Given the description of an element on the screen output the (x, y) to click on. 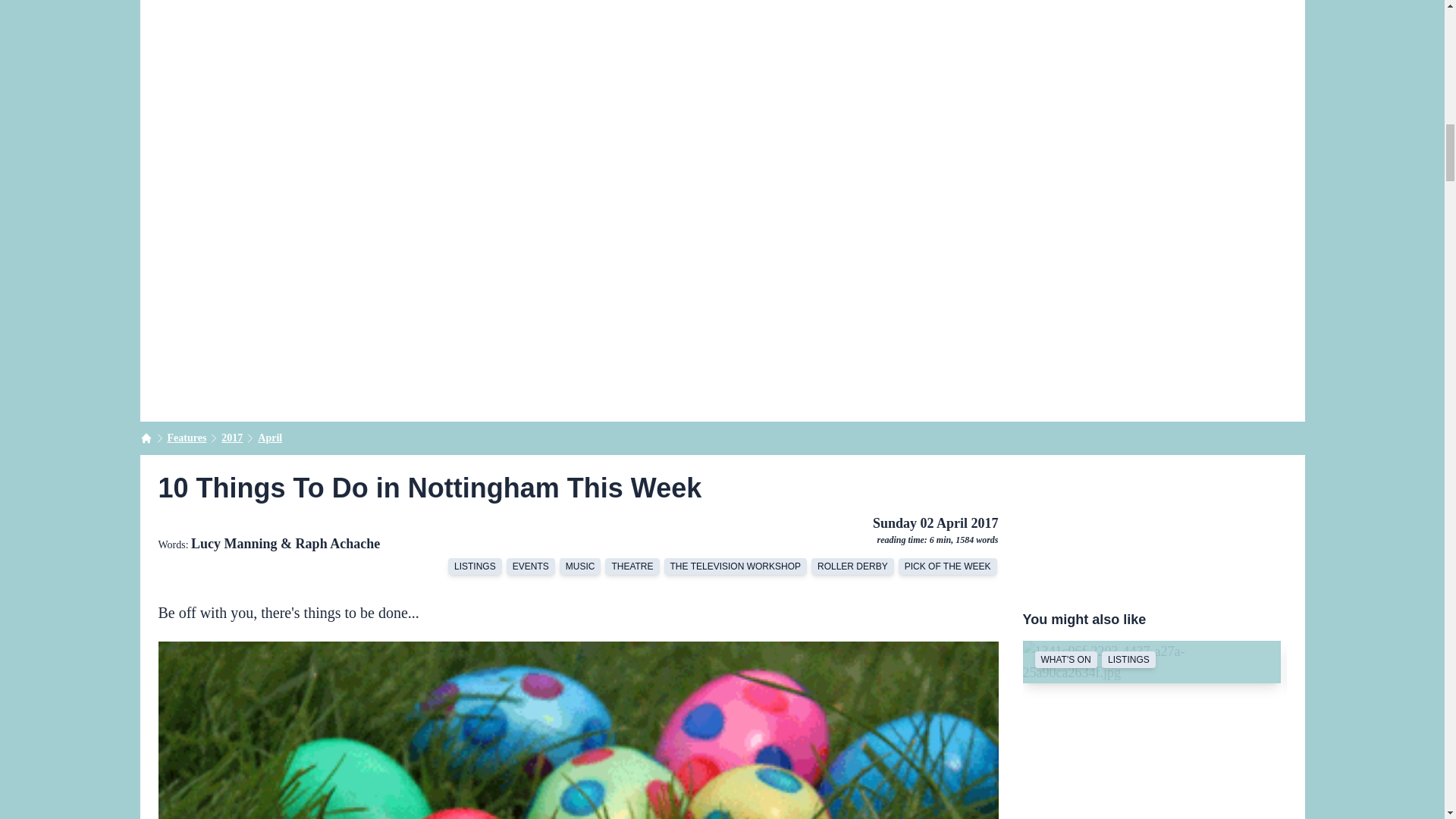
April (269, 437)
EVENTS (530, 565)
2017 (232, 437)
LISTINGS (475, 565)
PICK OF THE WEEK (947, 565)
MUSIC (580, 565)
THEATRE (632, 565)
ROLLER DERBY (851, 565)
THE TELEVISION WORKSHOP (734, 565)
Features (186, 437)
